Given the description of an element on the screen output the (x, y) to click on. 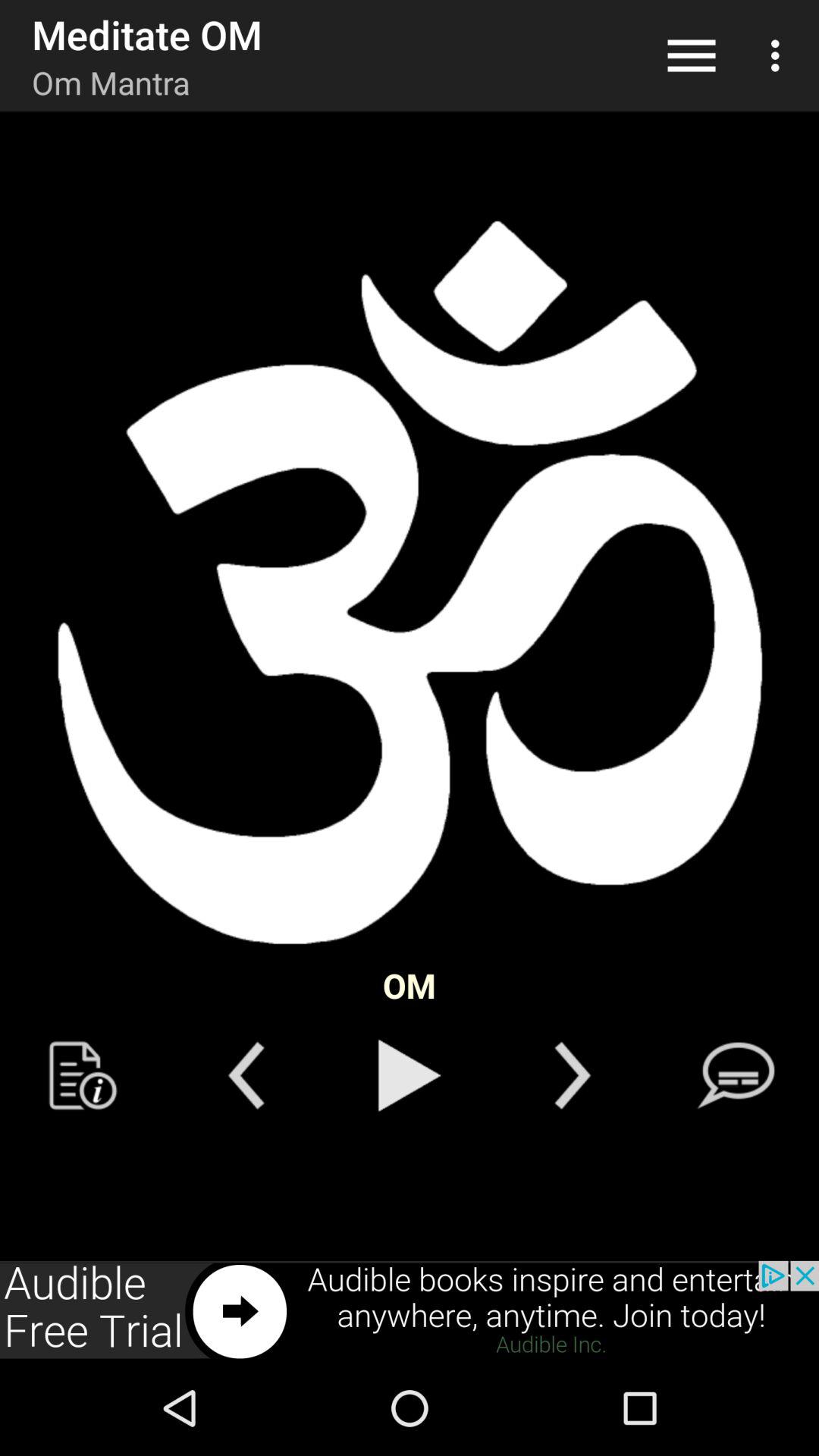
message (735, 1075)
